Given the description of an element on the screen output the (x, y) to click on. 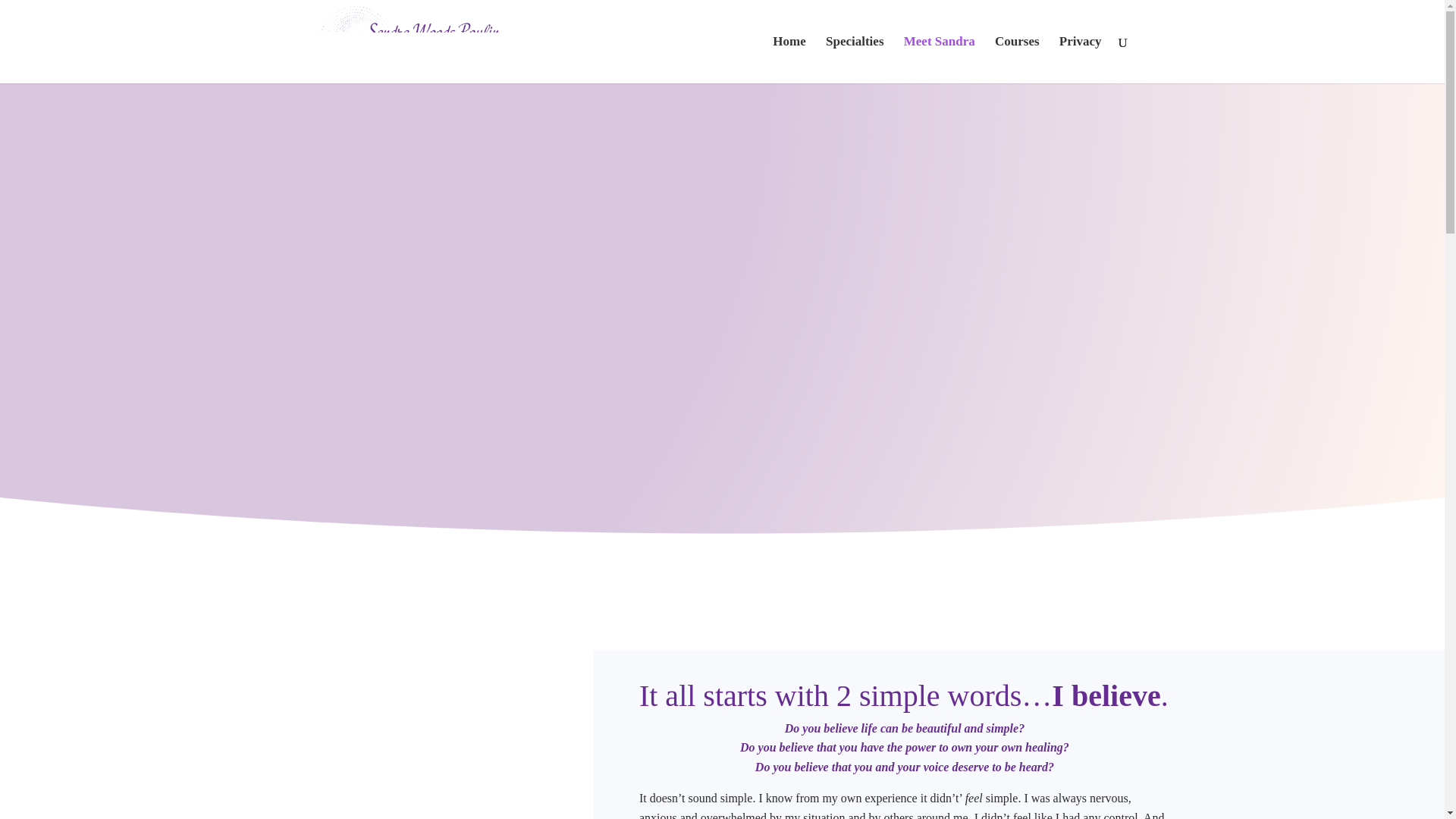
Meet Sandra (939, 59)
Specialties (854, 59)
Privacy (1080, 59)
Courses (1016, 59)
